Given the description of an element on the screen output the (x, y) to click on. 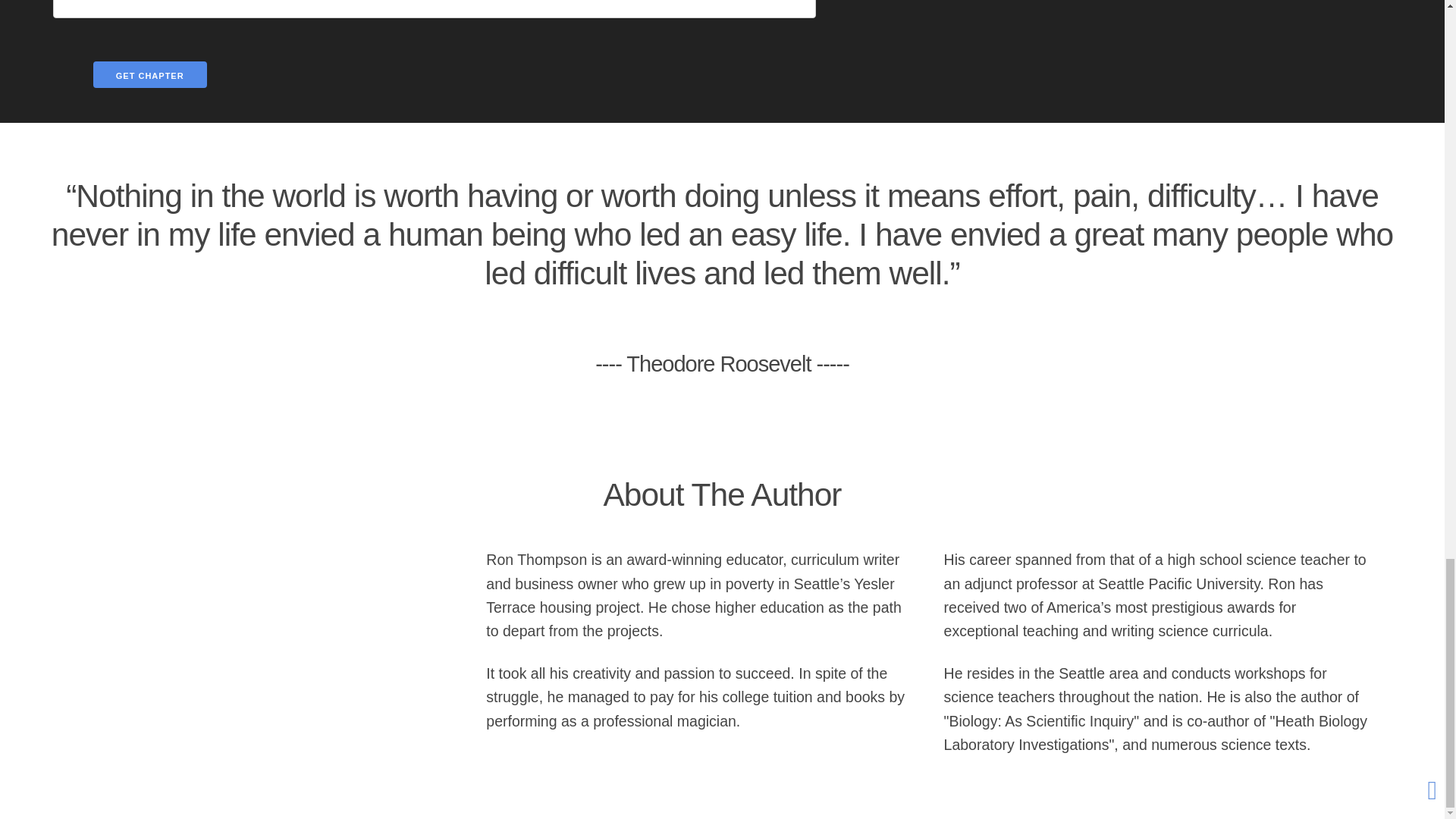
Get Chapter (149, 74)
Get Chapter (149, 74)
